Given the description of an element on the screen output the (x, y) to click on. 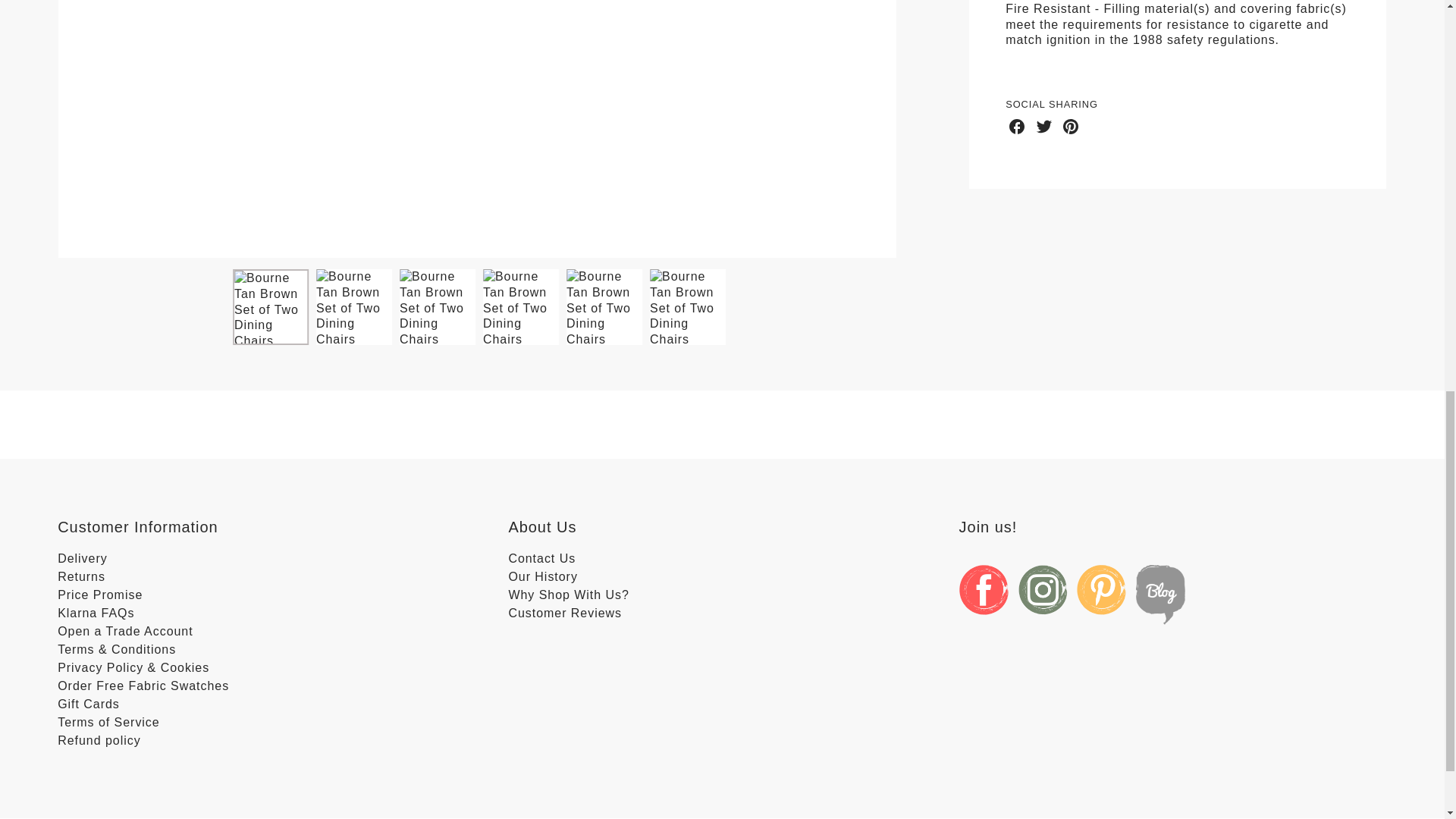
Share on Facebook (1016, 126)
Tweet on Twitter (1043, 126)
Pin on Pinterest (1070, 126)
